Given the description of an element on the screen output the (x, y) to click on. 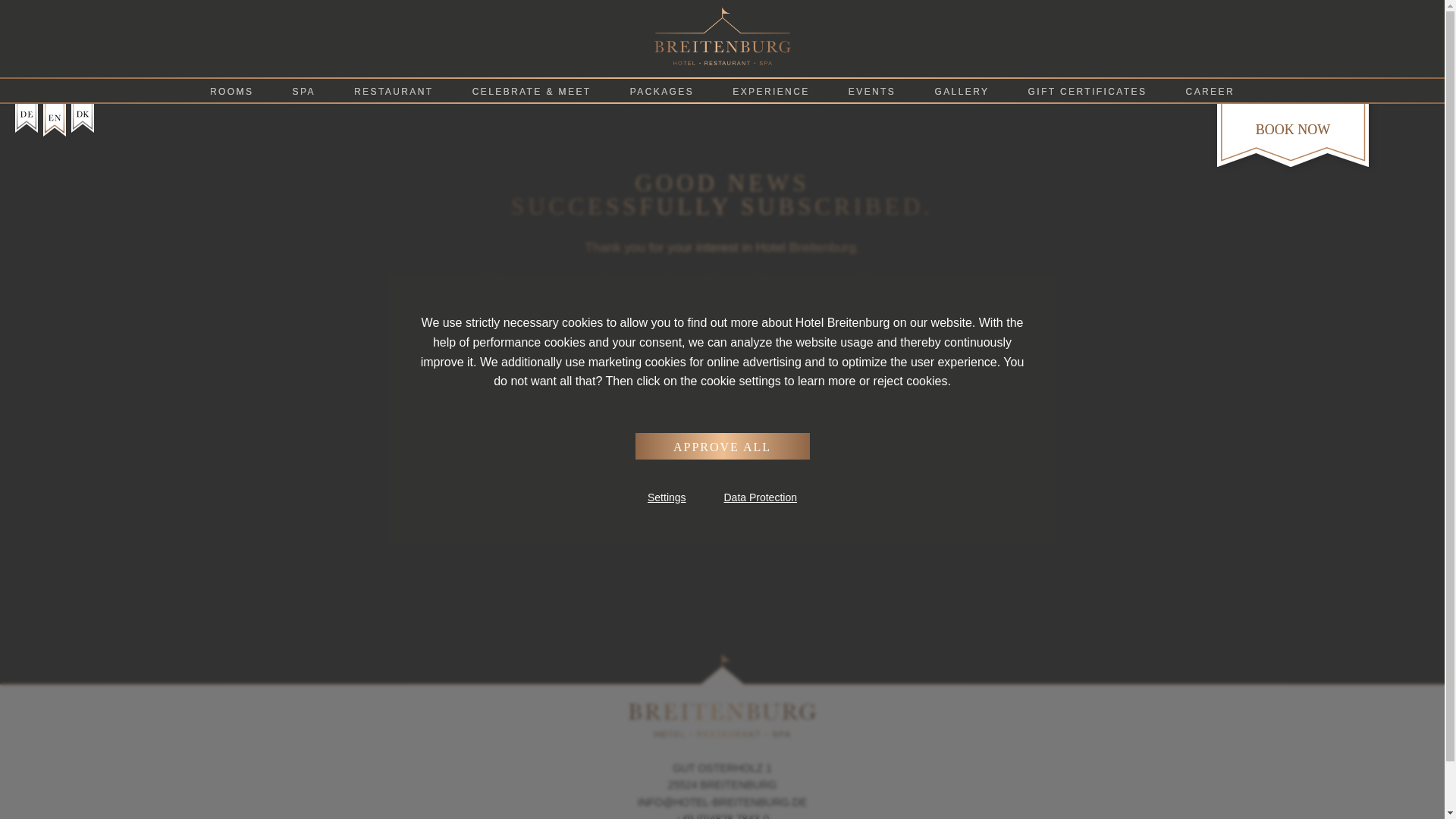
APPROVE ALL (721, 446)
EXPERIENCE (771, 91)
GALLERY (962, 91)
RESTAURANT (393, 91)
GIFT CERTIFICATES (1087, 91)
Data Protection (759, 497)
Settings (666, 497)
PACKAGES (661, 91)
ROOMS (231, 91)
EVENTS (871, 91)
